Given the description of an element on the screen output the (x, y) to click on. 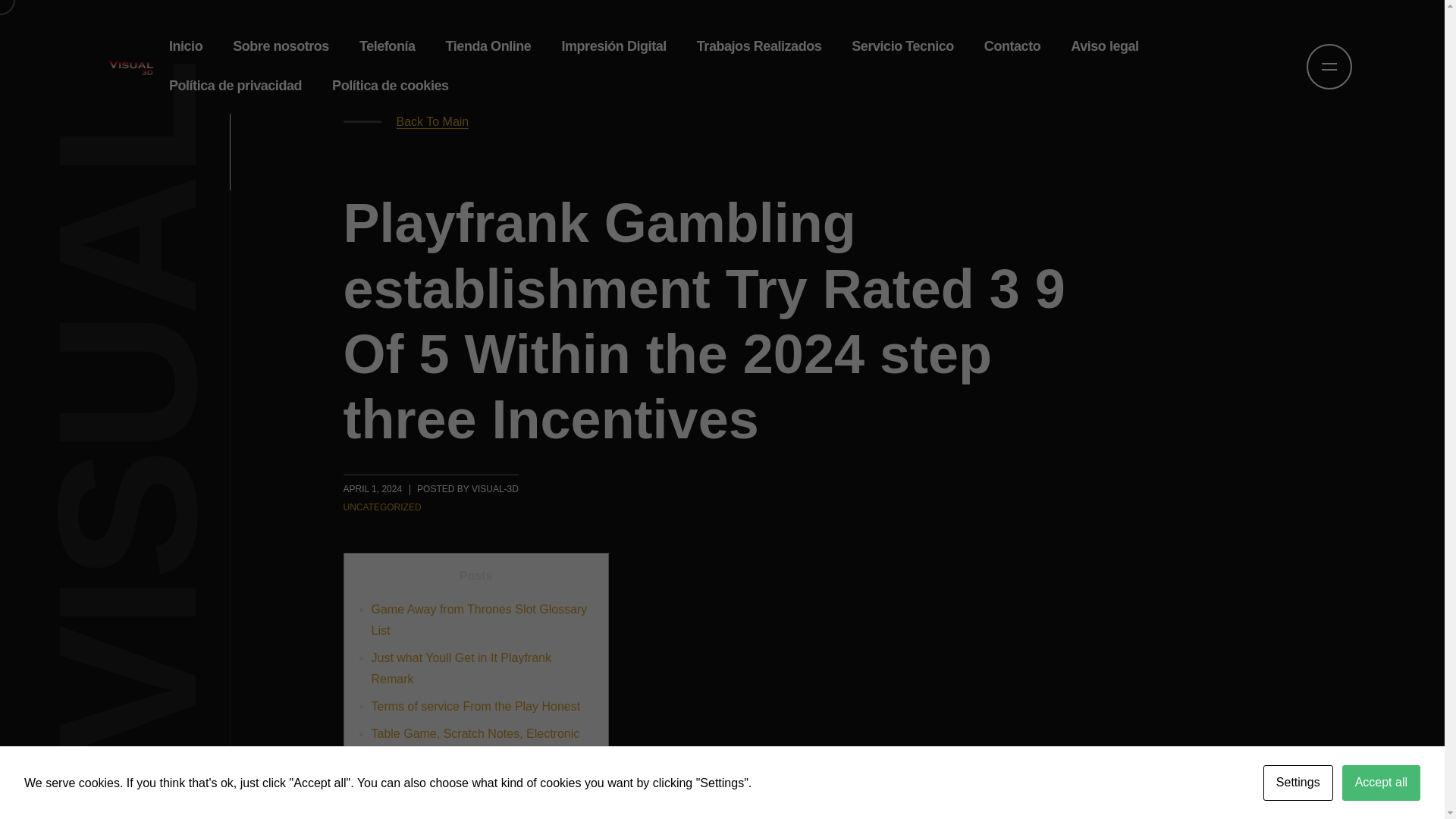
Servicio Tecnico (902, 46)
Aviso legal (1104, 46)
Trabajos Realizados (759, 46)
Inicio (185, 46)
Sobre nosotros (279, 46)
Contacto (1012, 46)
Tienda Online (488, 46)
